Given the description of an element on the screen output the (x, y) to click on. 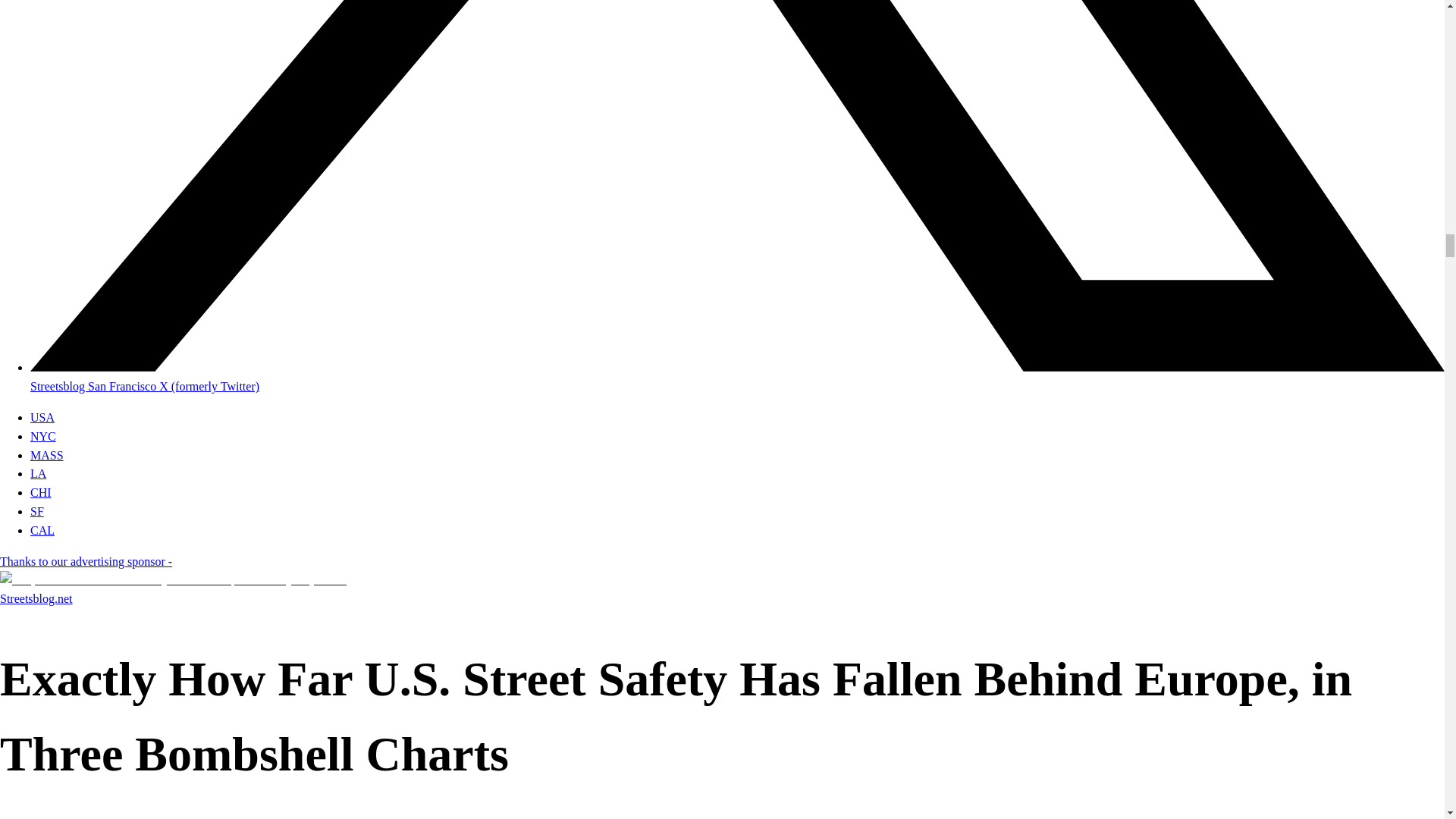
MASS (47, 454)
CAL (42, 530)
USA (42, 417)
CHI (40, 492)
LA (38, 472)
NYC (43, 436)
Streetsblog.net (36, 598)
SF (36, 511)
